Given the description of an element on the screen output the (x, y) to click on. 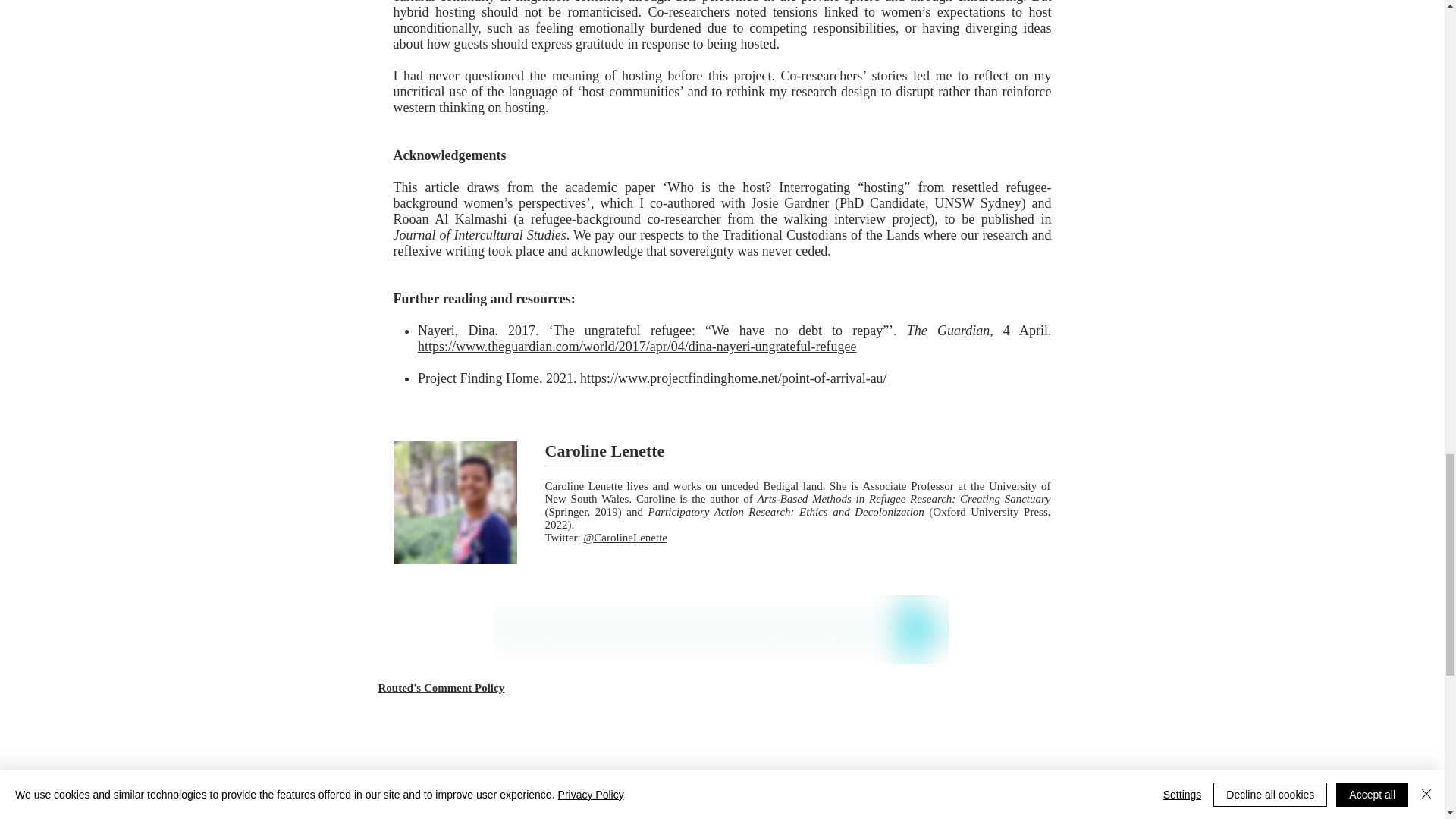
Embedded Content (721, 756)
